Given the description of an element on the screen output the (x, y) to click on. 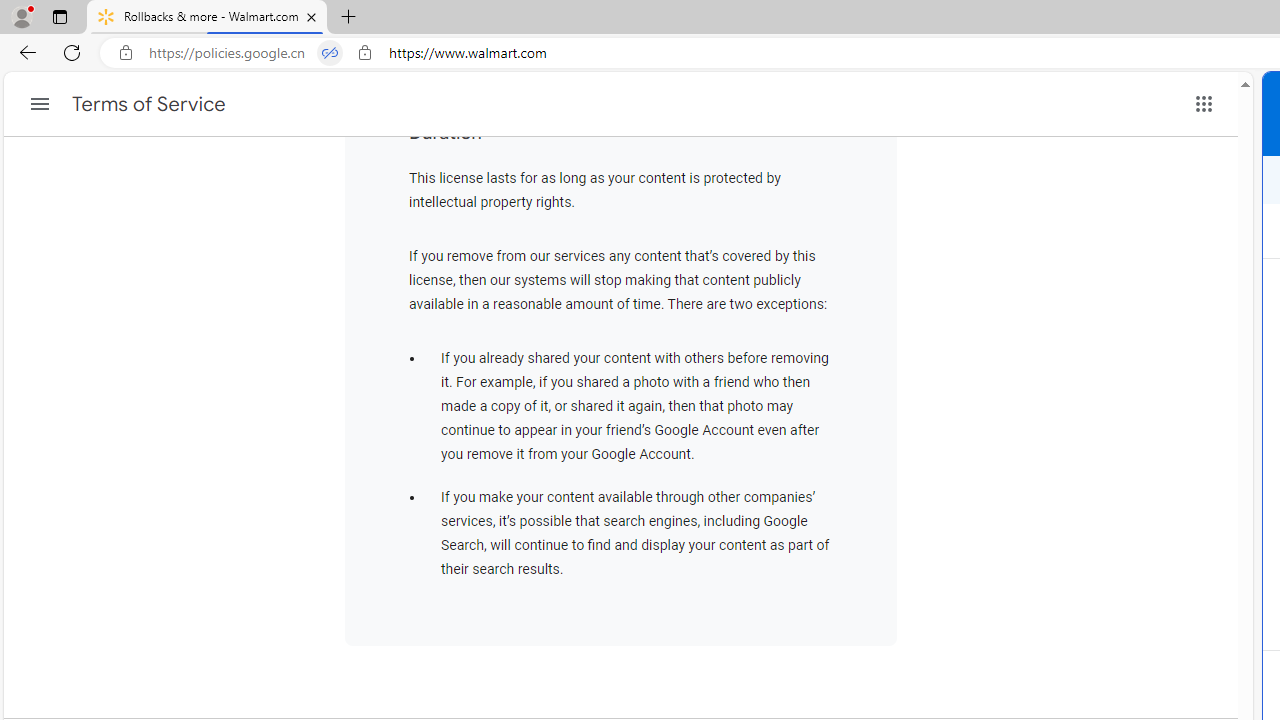
Rollbacks & more - Walmart.com (207, 17)
Tabs in split screen (330, 53)
